Given the description of an element on the screen output the (x, y) to click on. 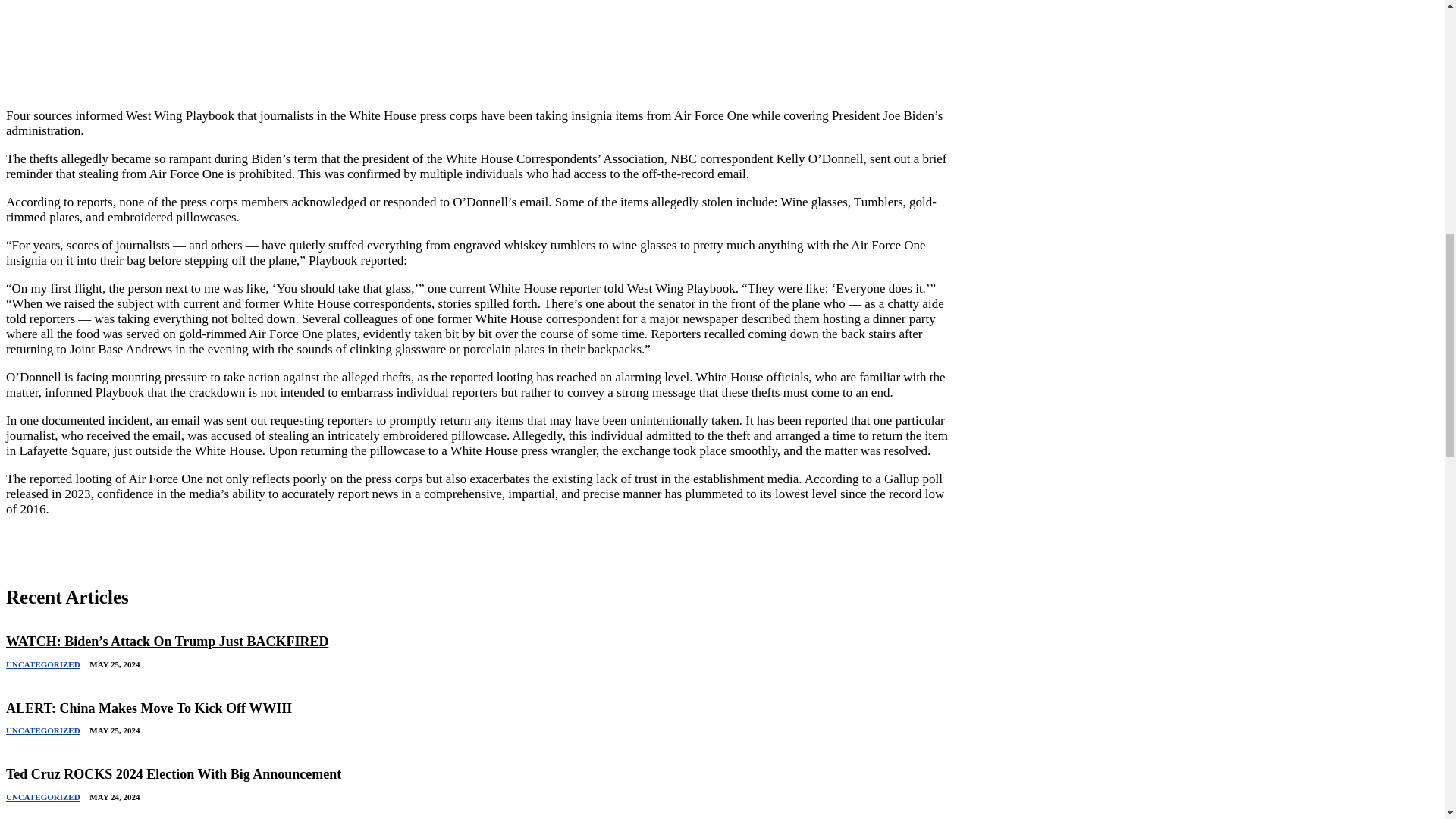
Ted Cruz ROCKS 2024 Election With Big Announcement (172, 774)
UNCATEGORIZED (42, 664)
Ted Cruz ROCKS 2024 Election With Big Announcement (172, 774)
ALERT: China Makes Move To Kick Off WWIII (148, 708)
UNCATEGORIZED (42, 730)
ALERT: China Makes Move To Kick Off WWIII (148, 708)
UNCATEGORIZED (42, 797)
